Given the description of an element on the screen output the (x, y) to click on. 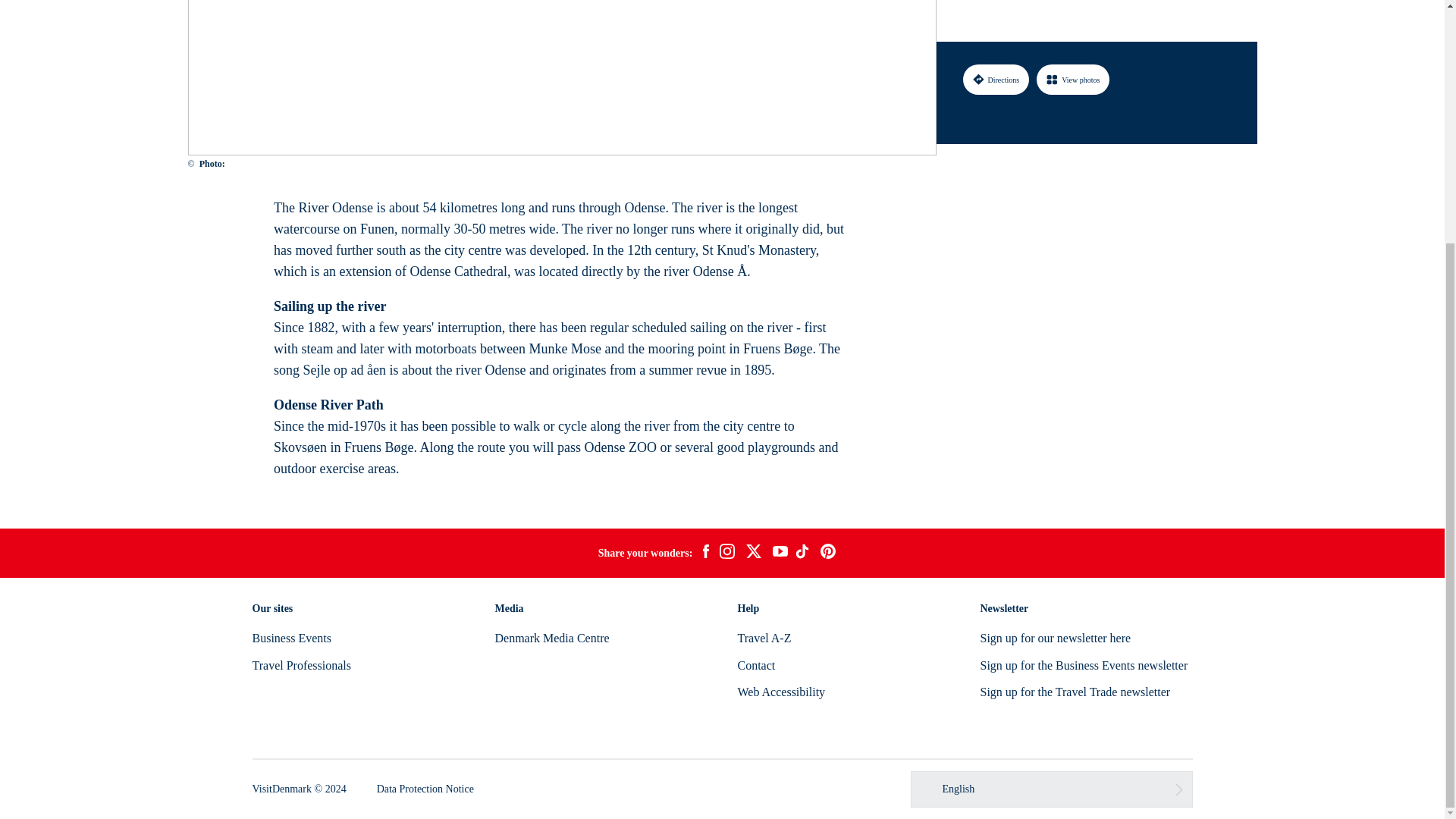
instagram (726, 553)
Web Accessibility (780, 691)
Travel A-Z (763, 637)
Sign up for our newsletter here (1055, 637)
tiktok (804, 553)
Sign up for our newsletter here (1055, 637)
Sign up for the Travel Trade newsletter (1074, 691)
Data Protection Notice (425, 789)
Travel Professionals (300, 665)
Contact (755, 665)
